Given the description of an element on the screen output the (x, y) to click on. 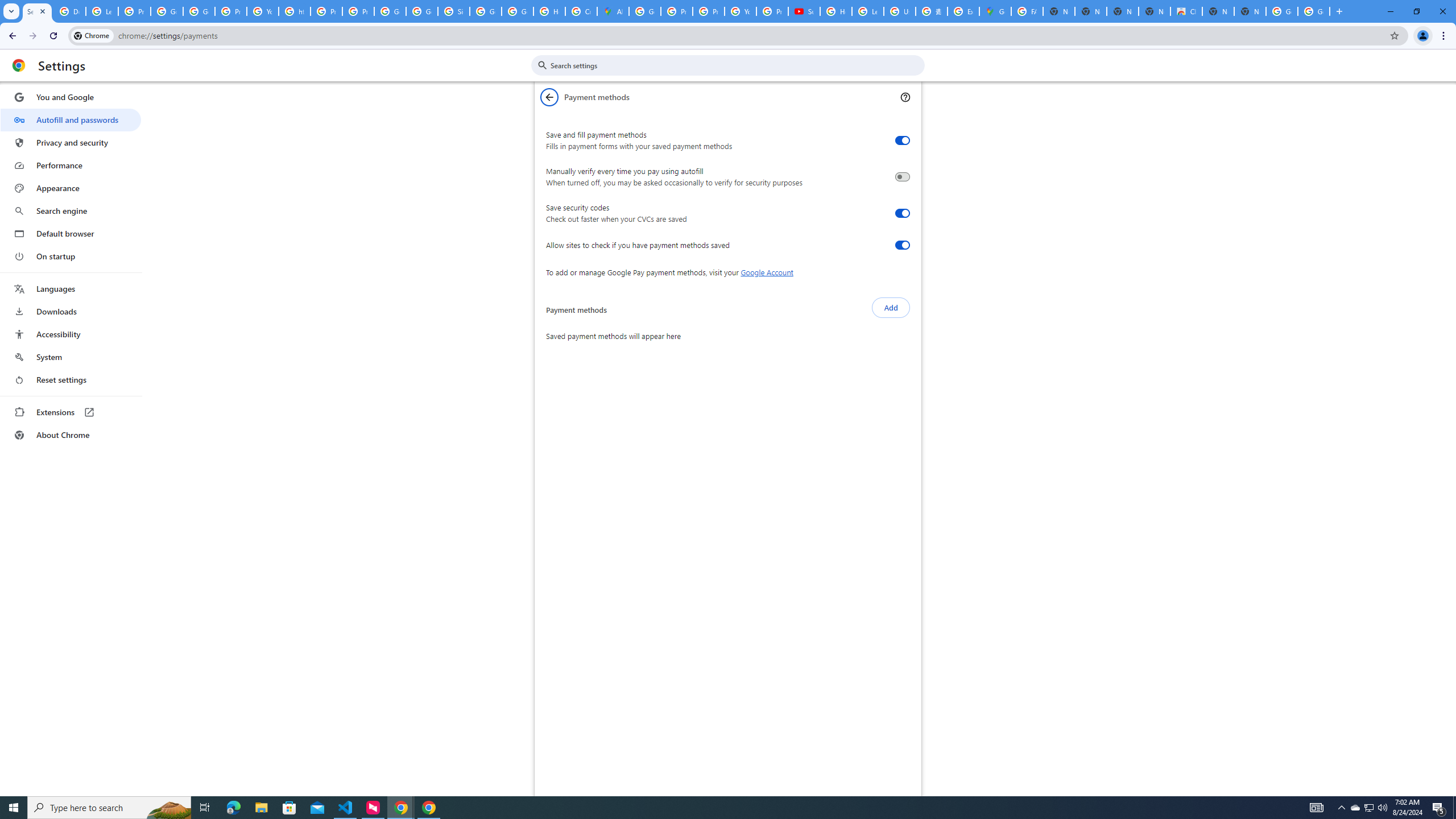
Accessibility (70, 333)
Google Images (1281, 11)
AutomationID: menu (71, 265)
New Tab (1249, 11)
